Given the description of an element on the screen output the (x, y) to click on. 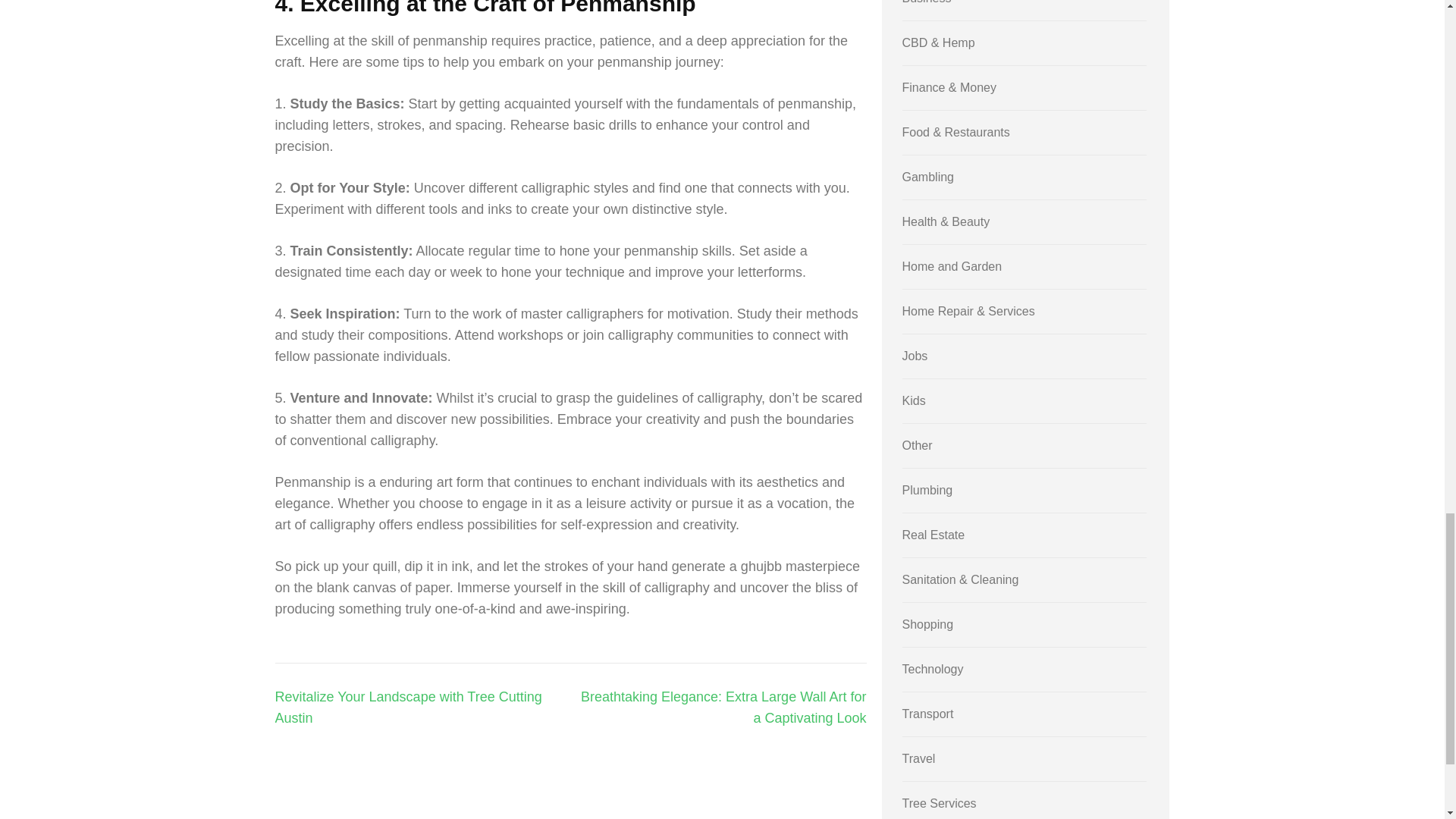
Revitalize Your Landscape with Tree Cutting Austin (408, 707)
